Given the description of an element on the screen output the (x, y) to click on. 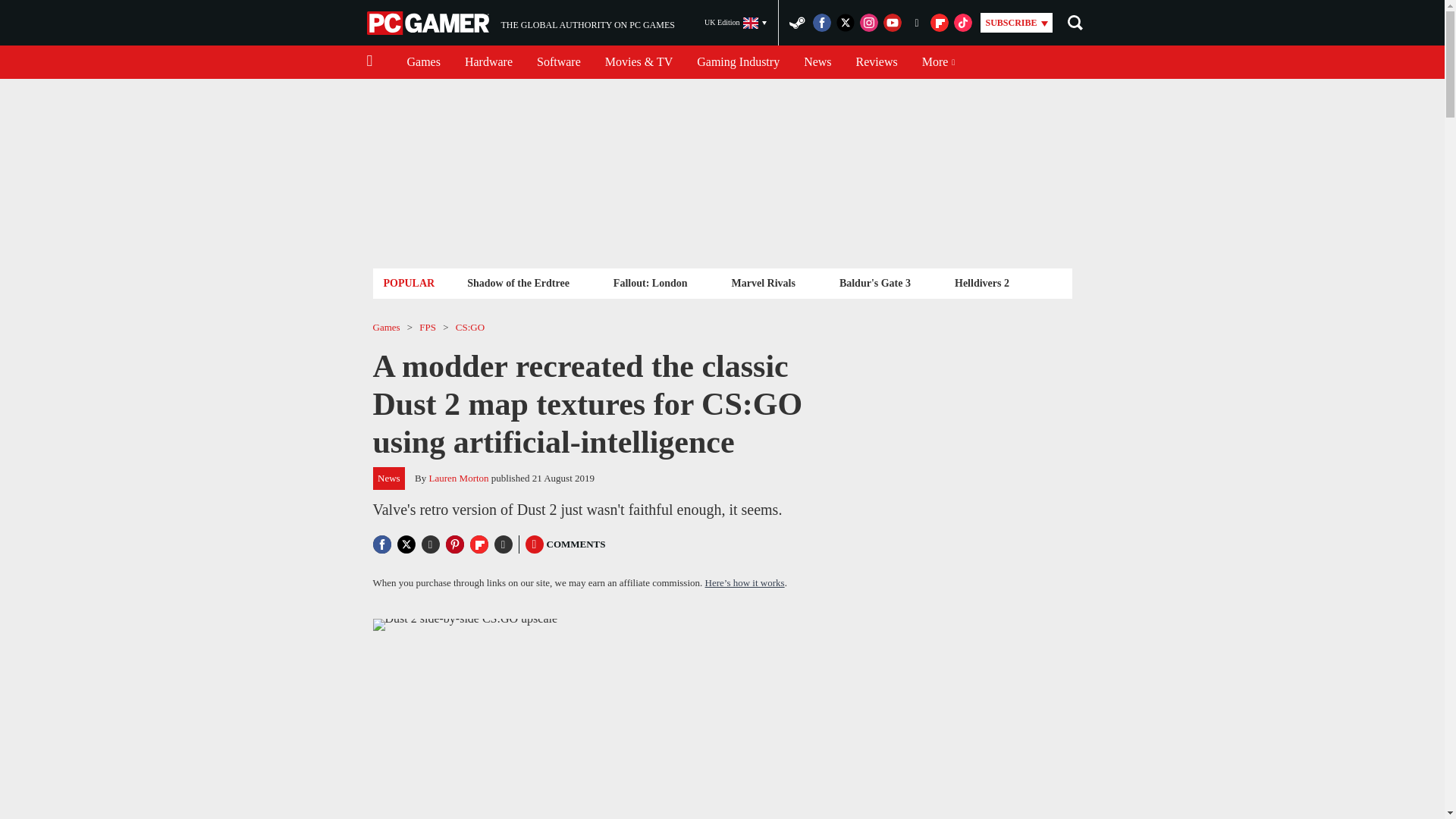
Software (520, 22)
Shadow of the Erdtree (558, 61)
Hardware (518, 282)
Games (488, 61)
PC Gamer (422, 61)
UK Edition (429, 22)
Gaming Industry (735, 22)
Reviews (738, 61)
Fallout: London (877, 61)
News (650, 282)
